Given the description of an element on the screen output the (x, y) to click on. 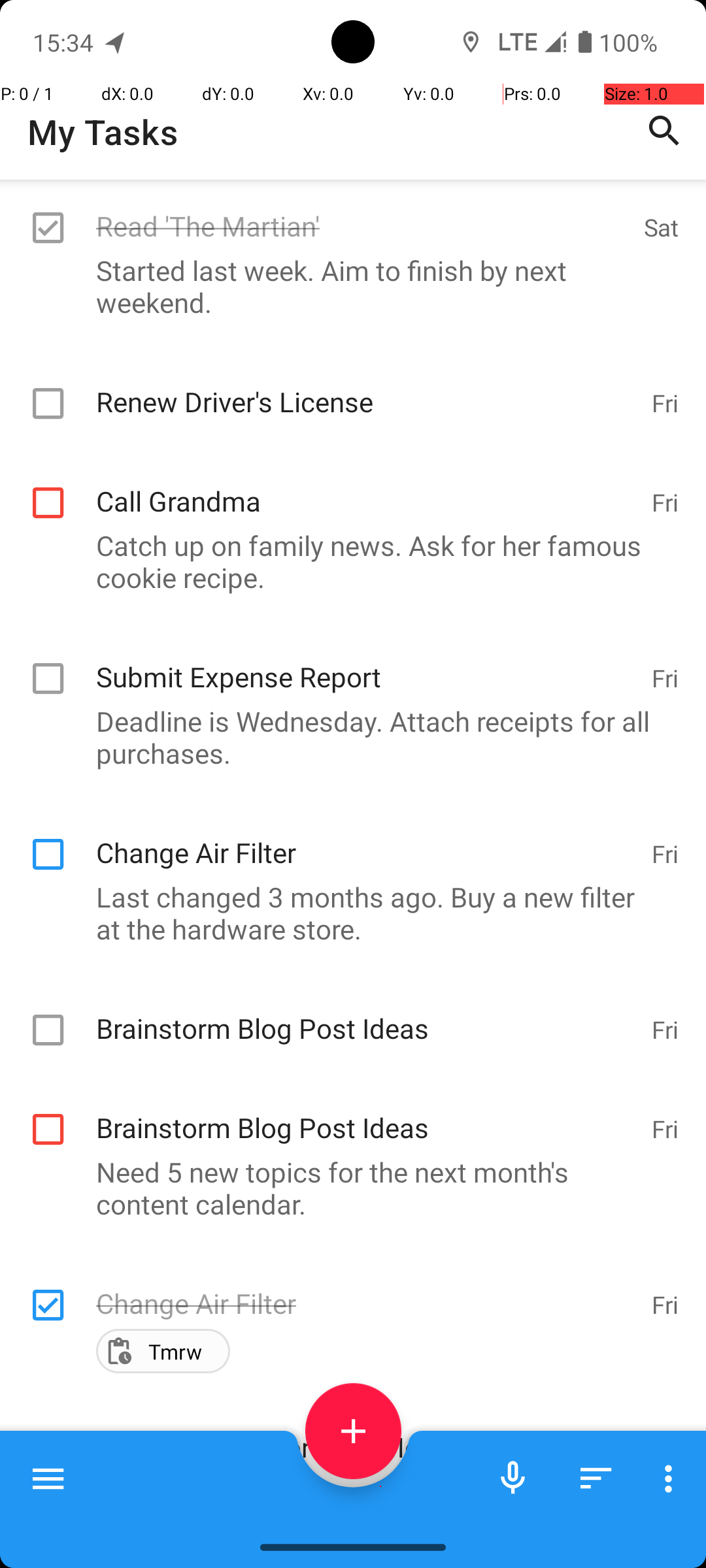
Need 5 new topics for the next month's content calendar. Element type: android.widget.TextView (346, 1187)
